Given the description of an element on the screen output the (x, y) to click on. 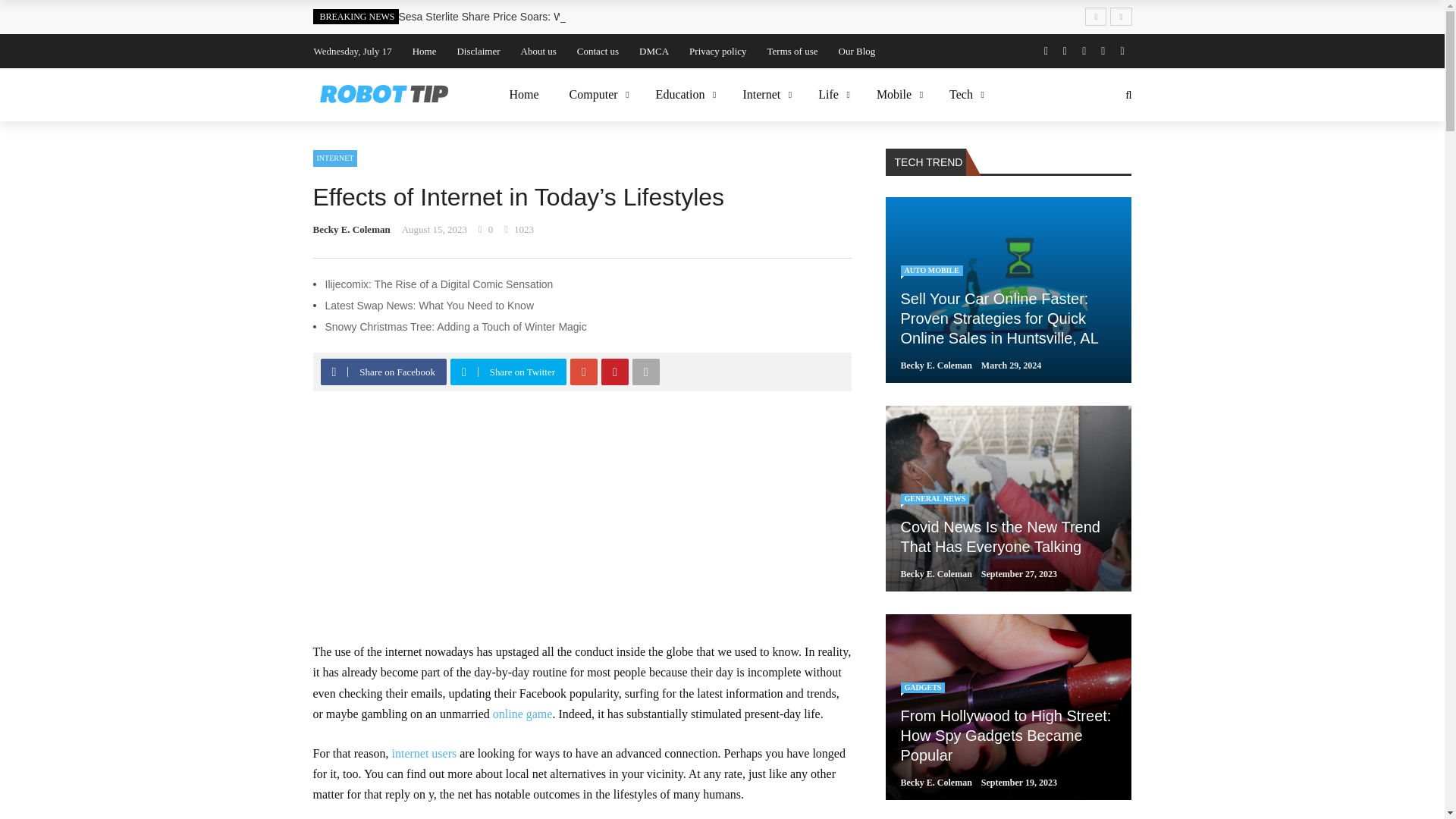
Advertisement (581, 527)
